Given the description of an element on the screen output the (x, y) to click on. 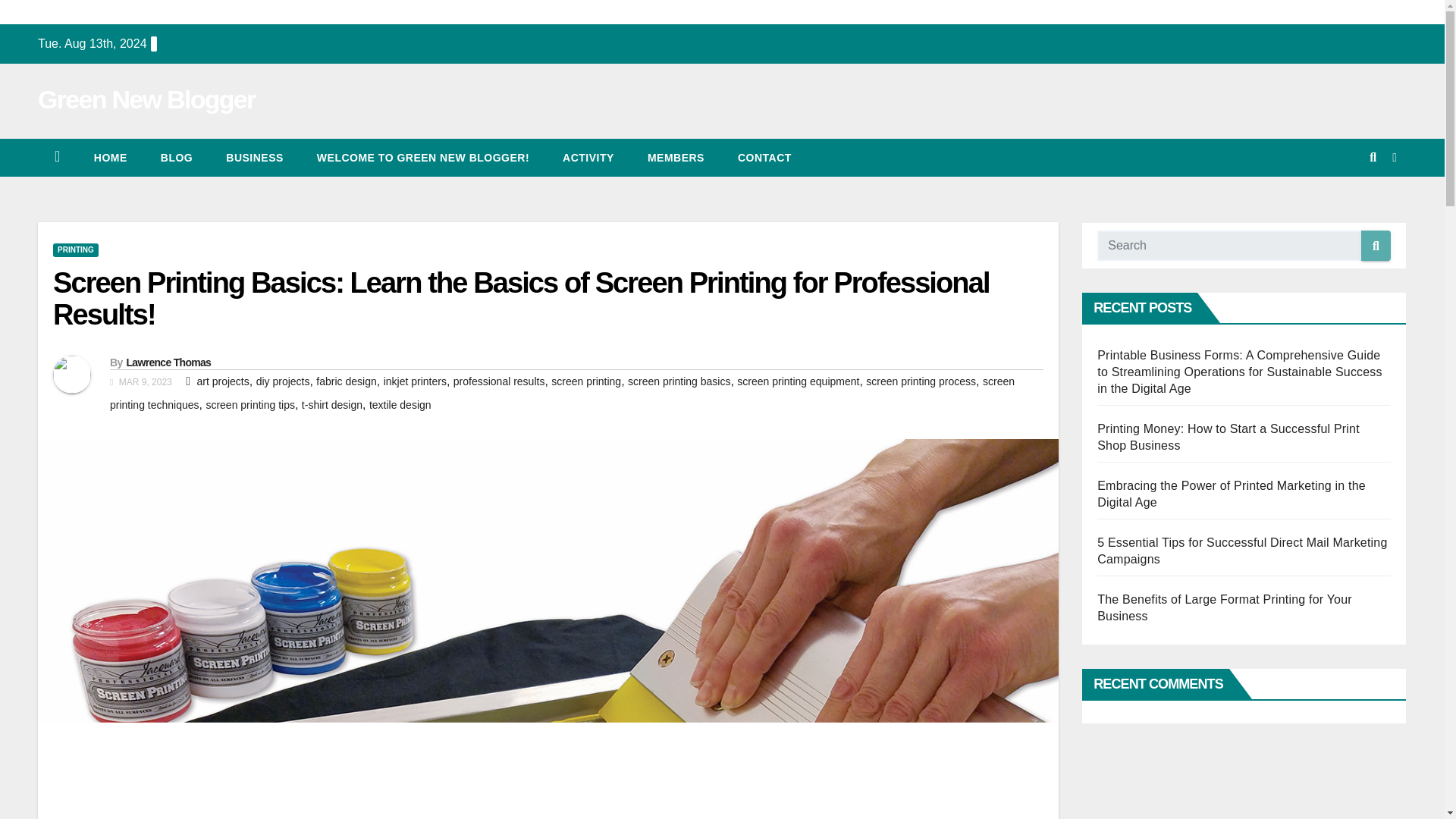
screen printing (586, 381)
WELCOME TO GREEN NEW BLOGGER! (422, 157)
Contact (764, 157)
Green New Blogger (146, 99)
screen printing tips (250, 404)
HOME (110, 157)
PRINTING (75, 250)
Home (110, 157)
screen printing techniques (562, 393)
screen printing process (920, 381)
